Given the description of an element on the screen output the (x, y) to click on. 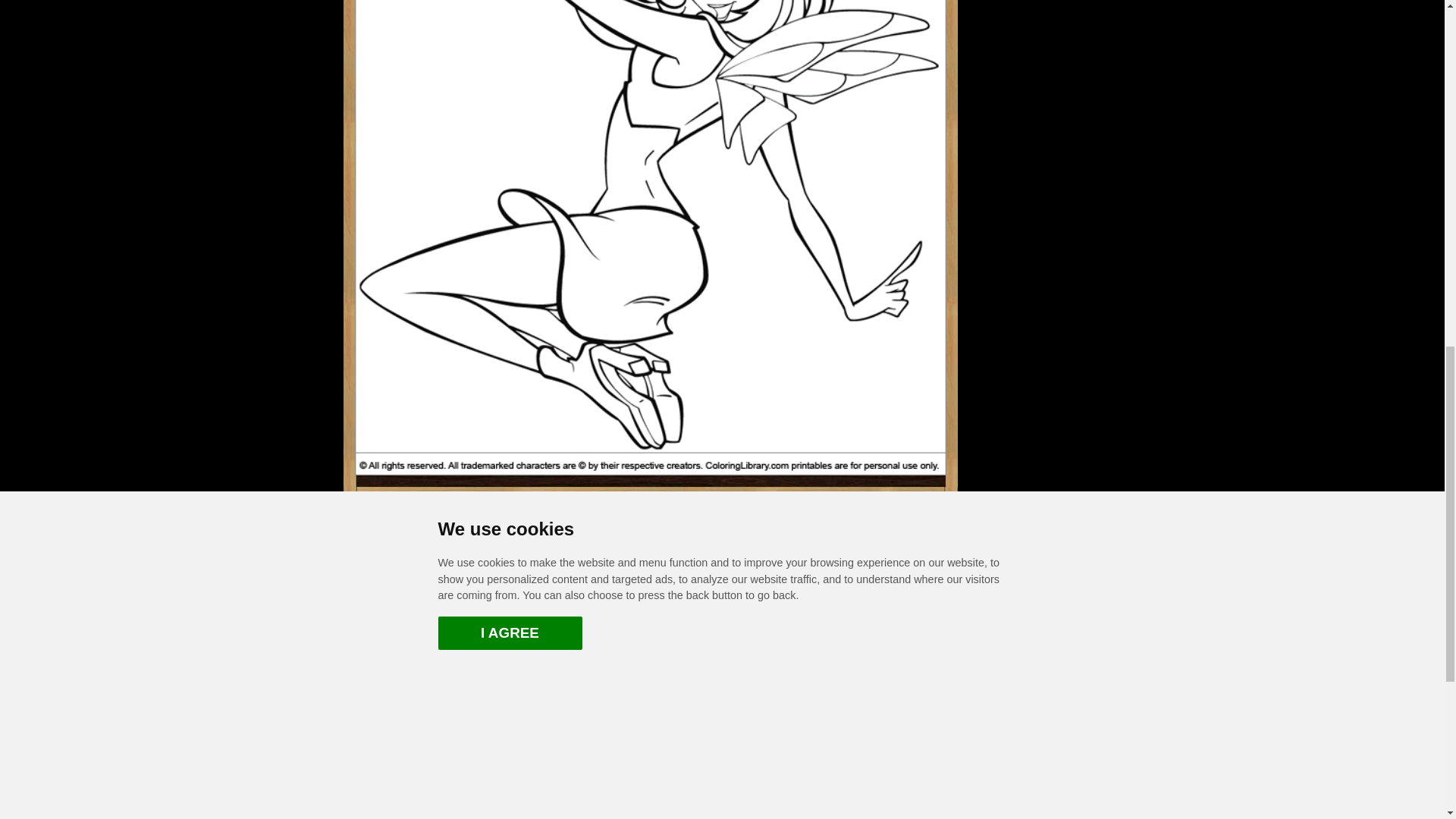
Disclaimer (475, 753)
All Coloring Pages (734, 723)
Advertisement (1028, 66)
To the   coloring library (473, 585)
Home (475, 723)
Cookies (475, 783)
privacy policy (734, 753)
cookies (475, 783)
disclaimer (475, 753)
Privacy Policy (734, 753)
Coloring pages and sheets (734, 723)
Free printable coloring pages (475, 723)
